Given the description of an element on the screen output the (x, y) to click on. 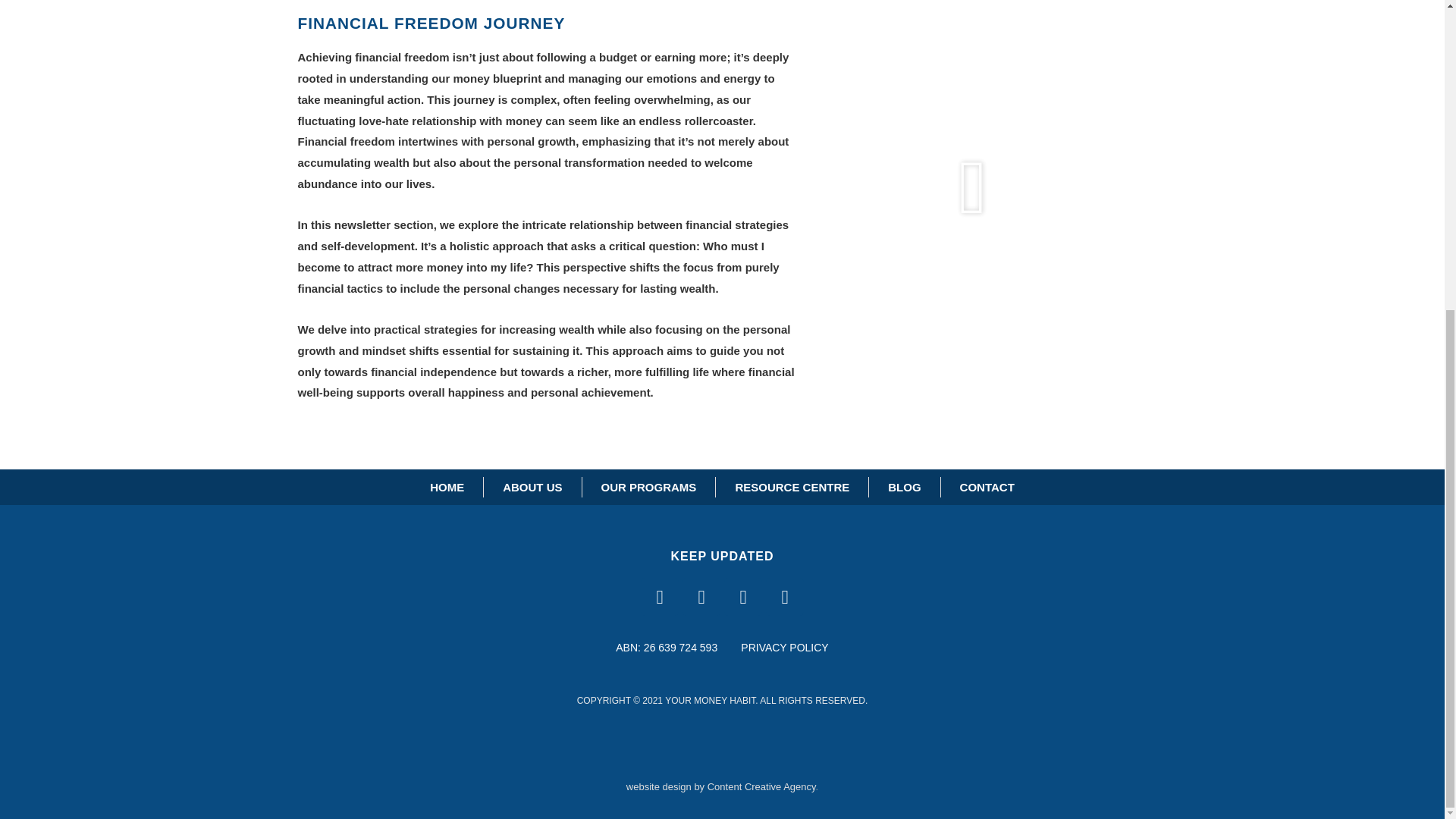
BLOG (904, 486)
OUR PROGRAMS (649, 486)
Instagram (701, 596)
CONTACT (986, 486)
Facebook-f (659, 596)
RESOURCE CENTRE (791, 486)
HOME (446, 486)
Linkedin-in (742, 596)
Twitter (784, 596)
ABOUT US (532, 486)
